Given the description of an element on the screen output the (x, y) to click on. 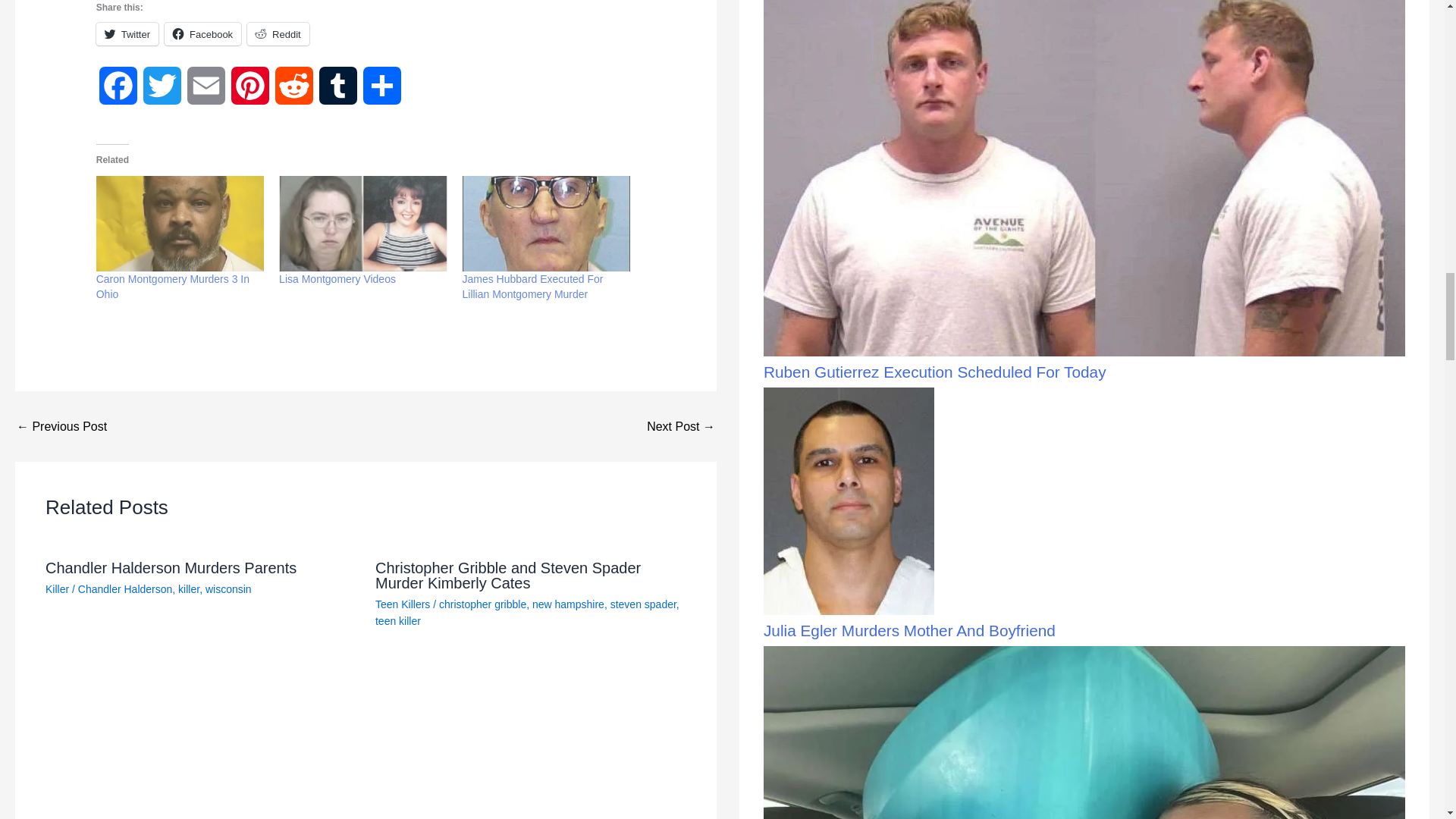
Click to share on Facebook (202, 33)
Click to share on Reddit (277, 33)
Click to share on Twitter (127, 33)
